Given the description of an element on the screen output the (x, y) to click on. 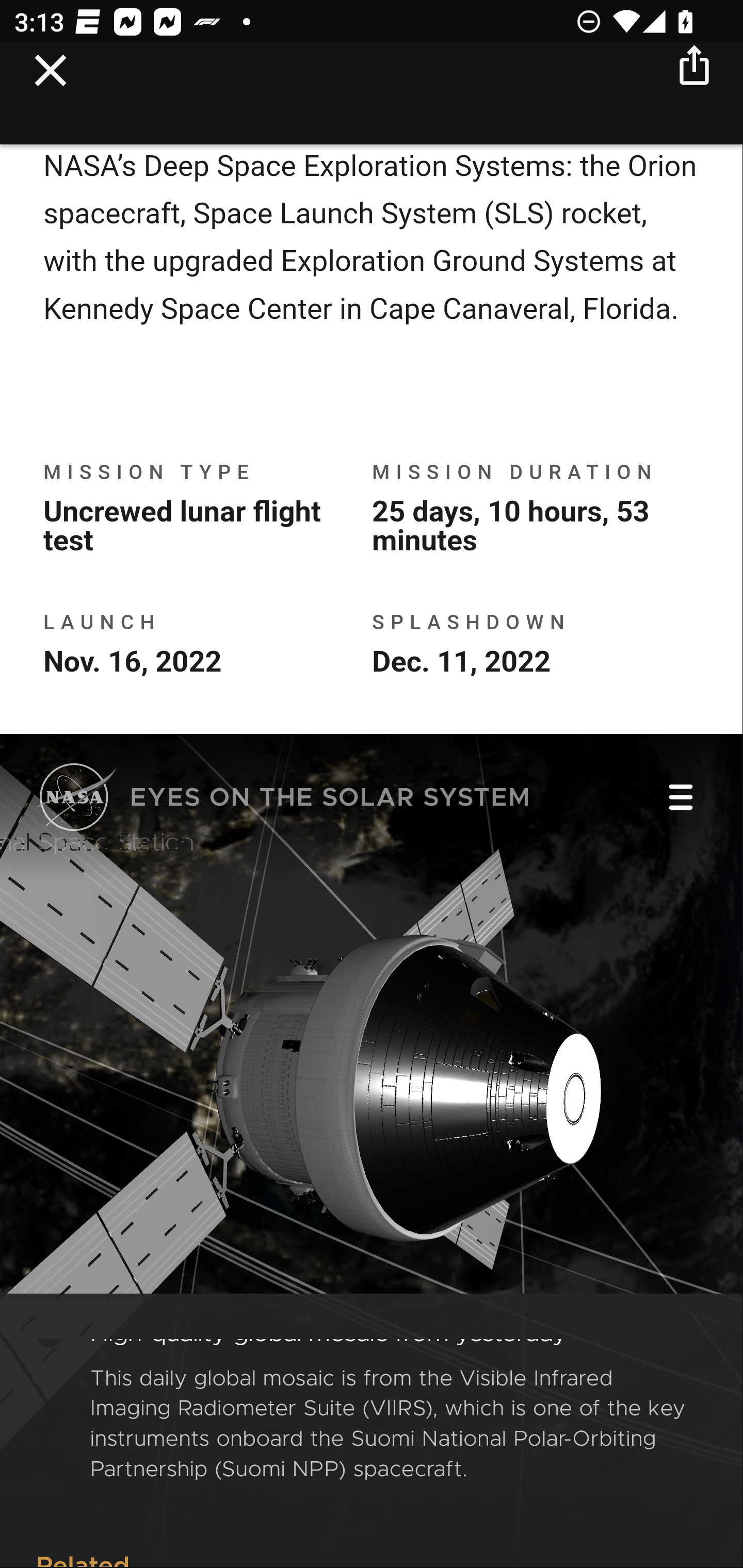
EYES ON THE SOLAR SYSTEM (283, 800)
